Given the description of an element on the screen output the (x, y) to click on. 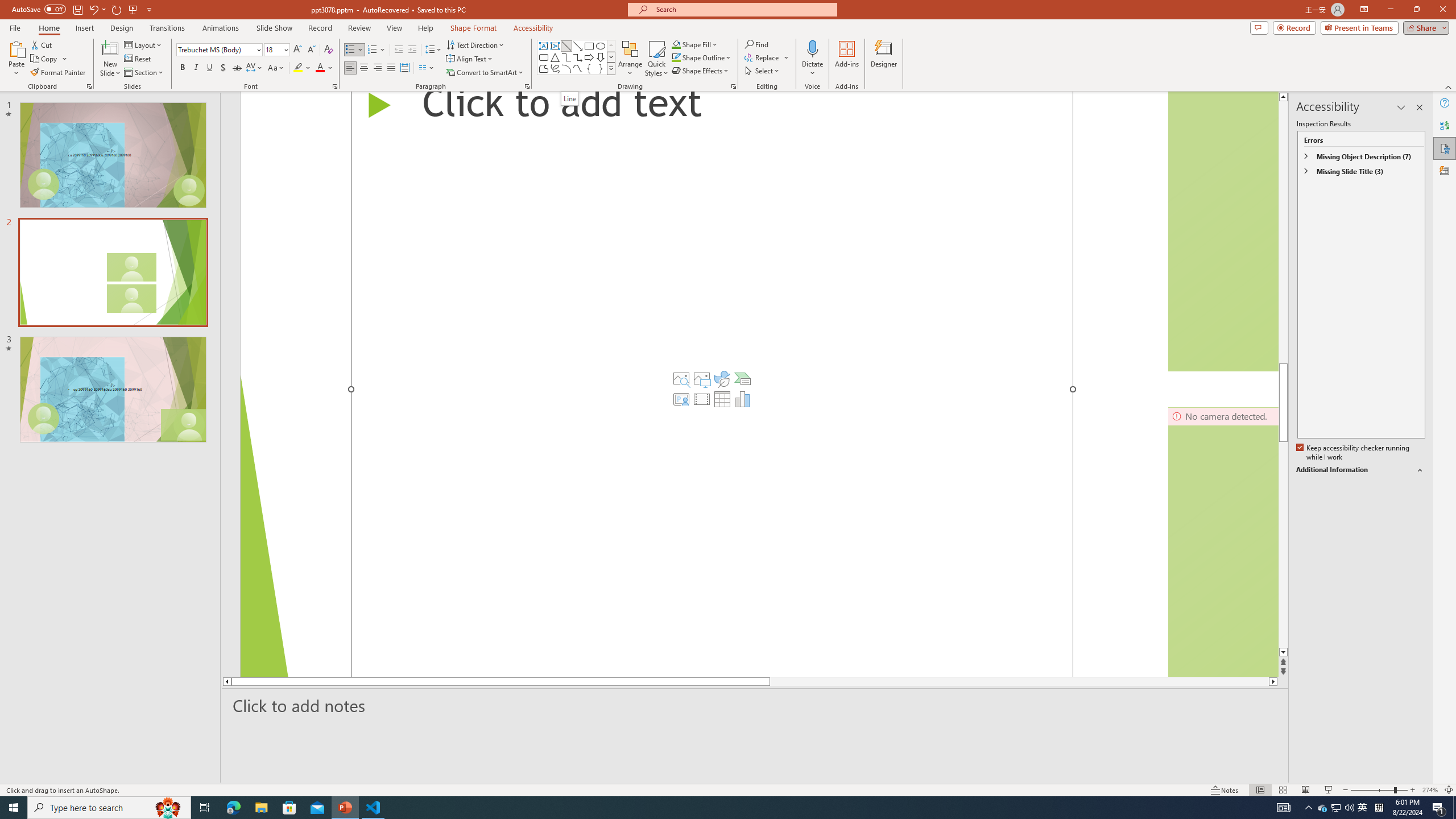
Paste (16, 48)
Freeform: Scribble (554, 68)
Right Brace (600, 68)
Section (144, 72)
Insert an Icon (721, 378)
Additional Information (1360, 469)
Line Spacing (433, 49)
Increase Indent (412, 49)
Character Spacing (254, 67)
Arc (566, 68)
